Given the description of an element on the screen output the (x, y) to click on. 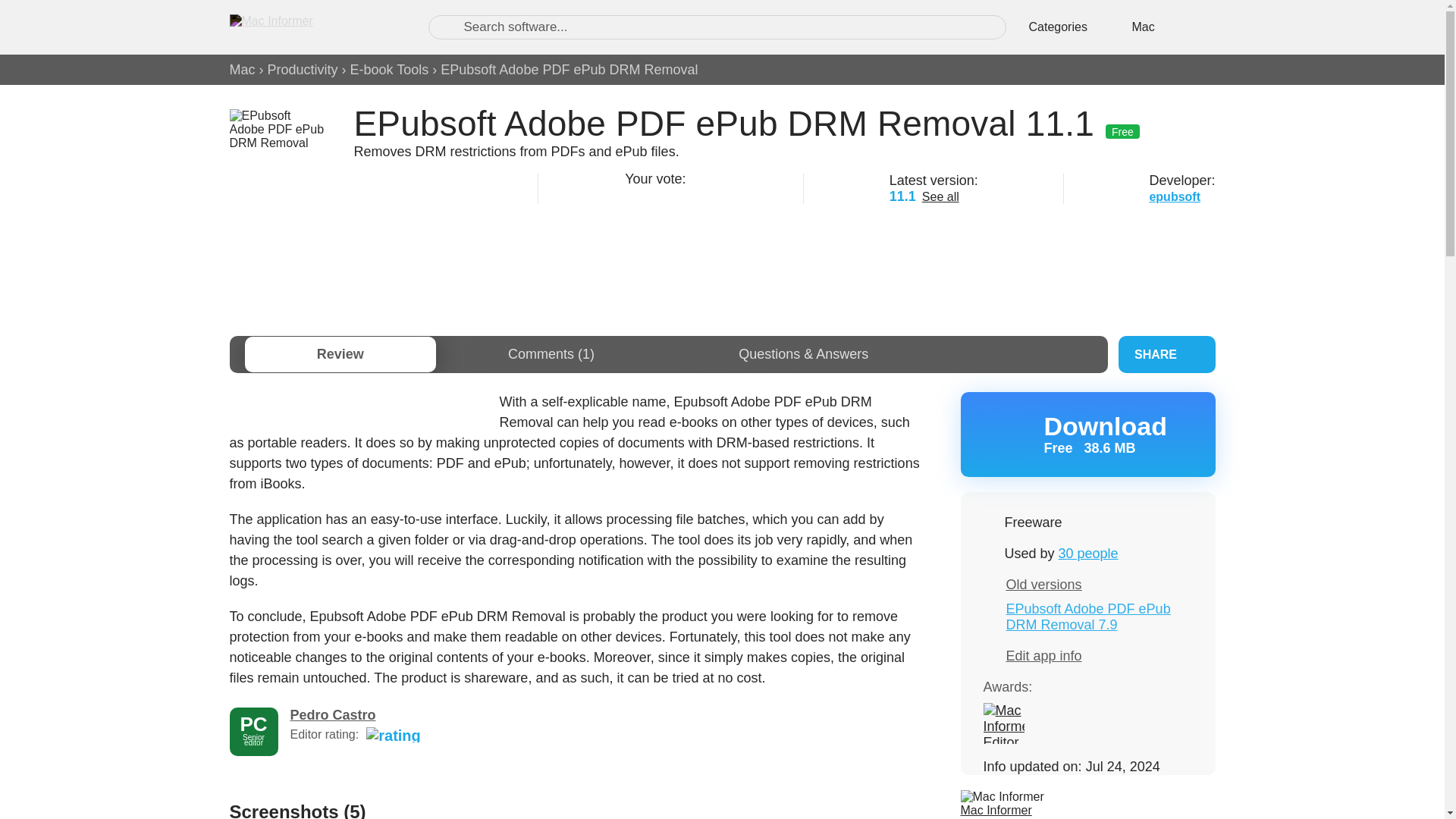
EPubsoft Adobe PDF ePub DRM Removal 7.9 (1088, 616)
2 (651, 193)
30 people (1088, 553)
Old versions (1043, 584)
Mac Informer (994, 809)
Mac (241, 69)
epubsoft (1173, 195)
5 (1086, 434)
3 (707, 193)
SHARE (670, 193)
Review (1166, 354)
Editors' choice award (339, 354)
Review (1002, 722)
